Given the description of an element on the screen output the (x, y) to click on. 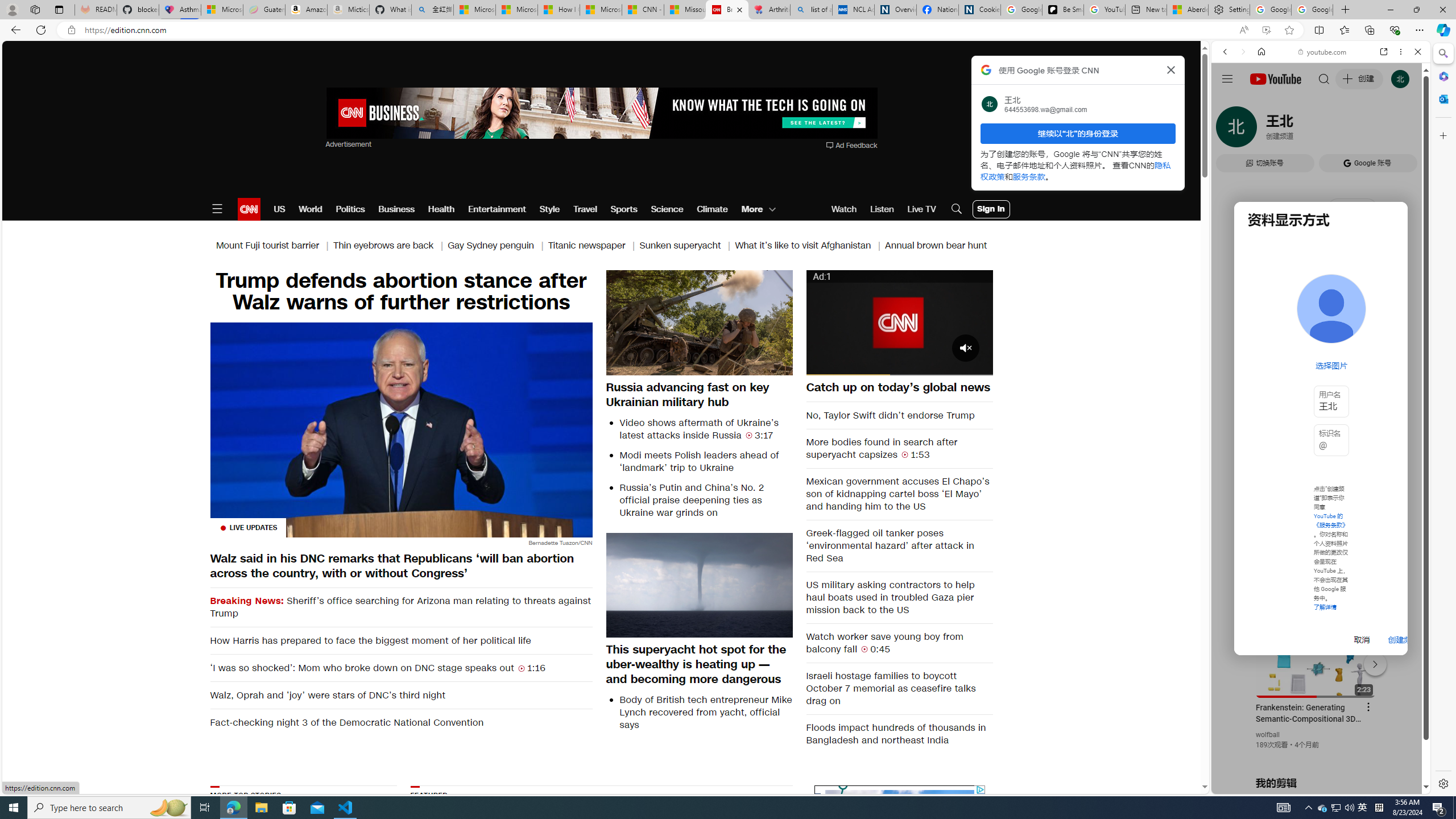
Search Filter, IMAGES (1262, 129)
Health (441, 209)
CNN logo (248, 209)
Search Filter, VIDEOS (1300, 129)
Trailer #2 [HD] (1320, 336)
Pause (821, 365)
This site scope (1259, 102)
Thin eyebrows are back | (390, 245)
